Given the description of an element on the screen output the (x, y) to click on. 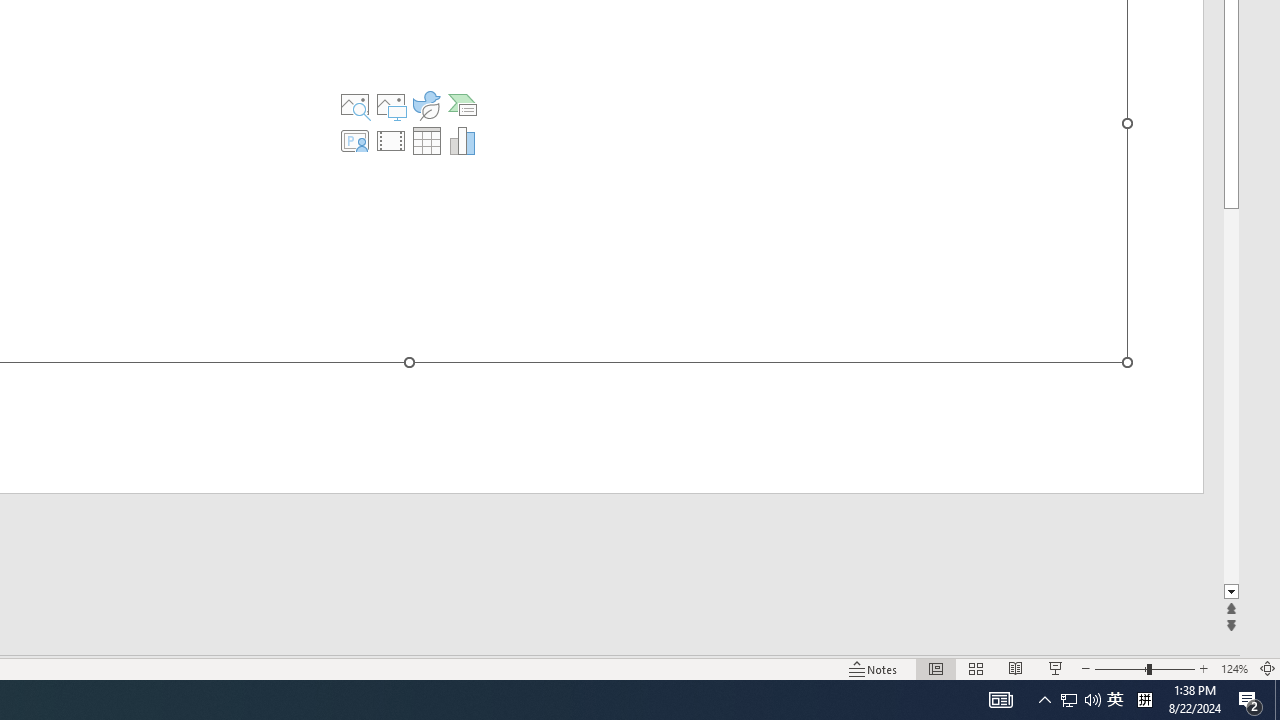
Insert an Icon (426, 104)
Insert Chart (462, 140)
Insert a SmartArt Graphic (462, 104)
Insert Video (391, 140)
Insert Cameo (355, 140)
Zoom 124% (1234, 668)
